Given the description of an element on the screen output the (x, y) to click on. 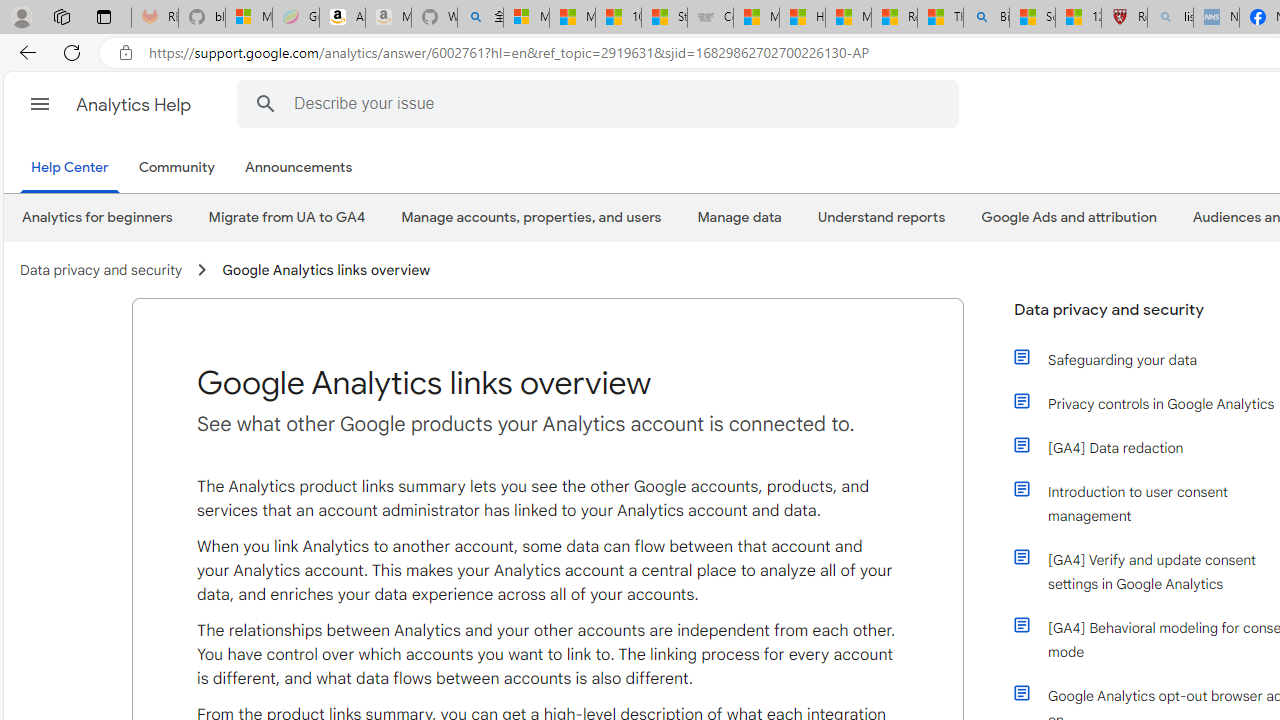
Manage accounts, properties, and users (531, 217)
Migrate from UA to GA4 (286, 217)
Microsoft-Report a Concern to Bing (249, 17)
Stocks - MSN (664, 17)
